Given the description of an element on the screen output the (x, y) to click on. 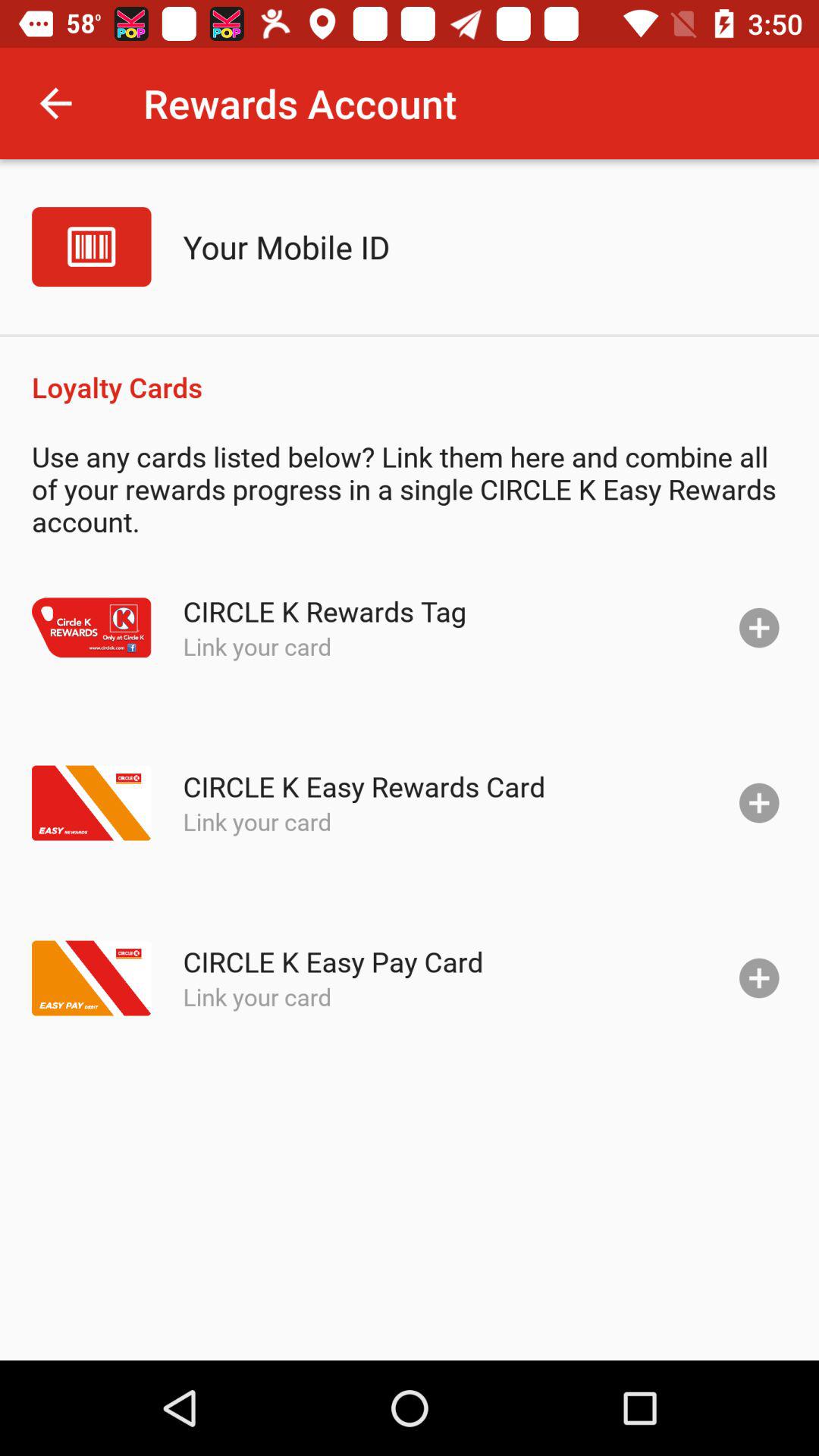
launch the item next to the rewards account icon (55, 103)
